Given the description of an element on the screen output the (x, y) to click on. 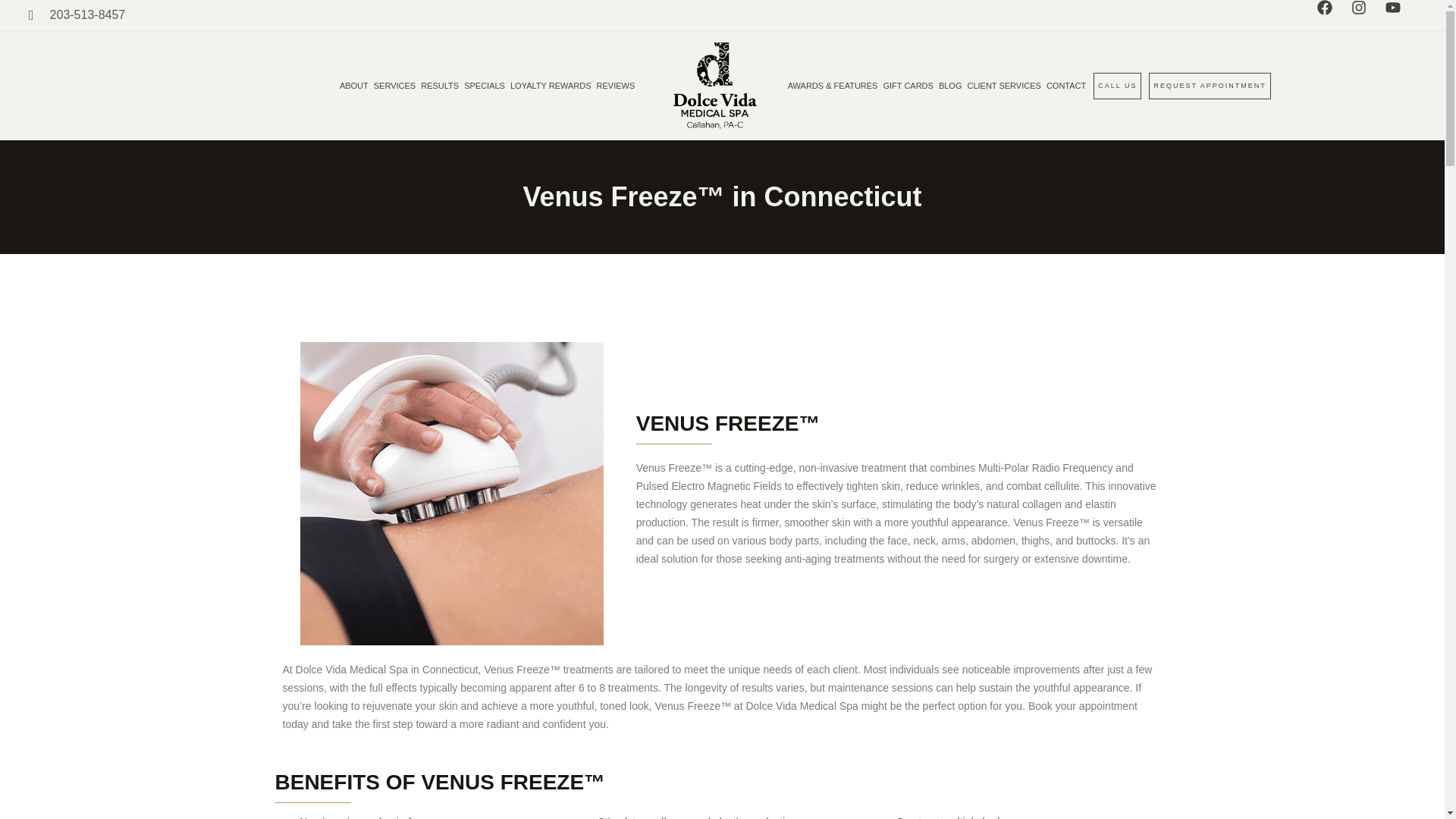
203-513-8457 (77, 14)
ABOUT (353, 85)
SERVICES (394, 85)
